Given the description of an element on the screen output the (x, y) to click on. 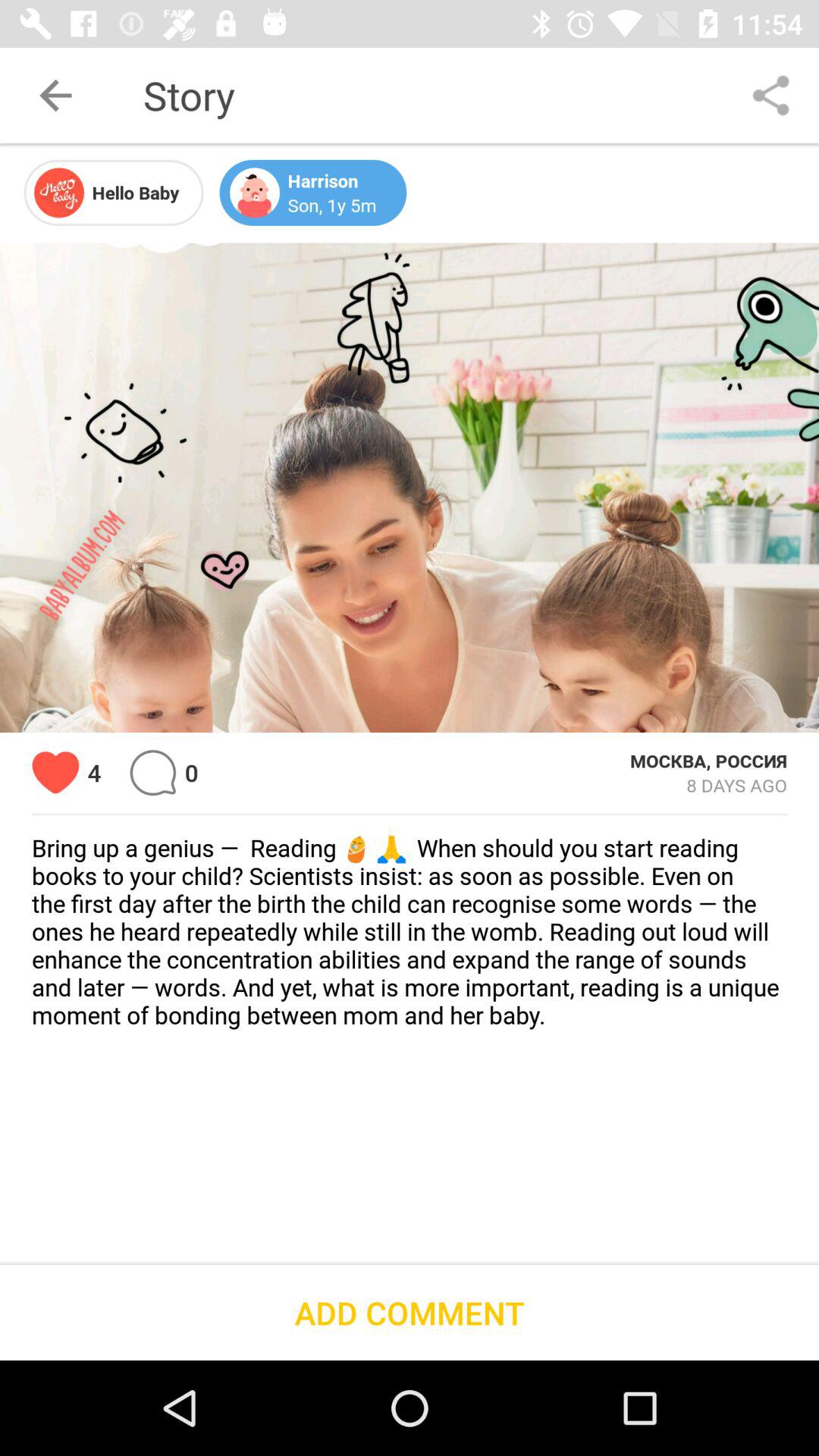
comment or view comments (152, 772)
